Given the description of an element on the screen output the (x, y) to click on. 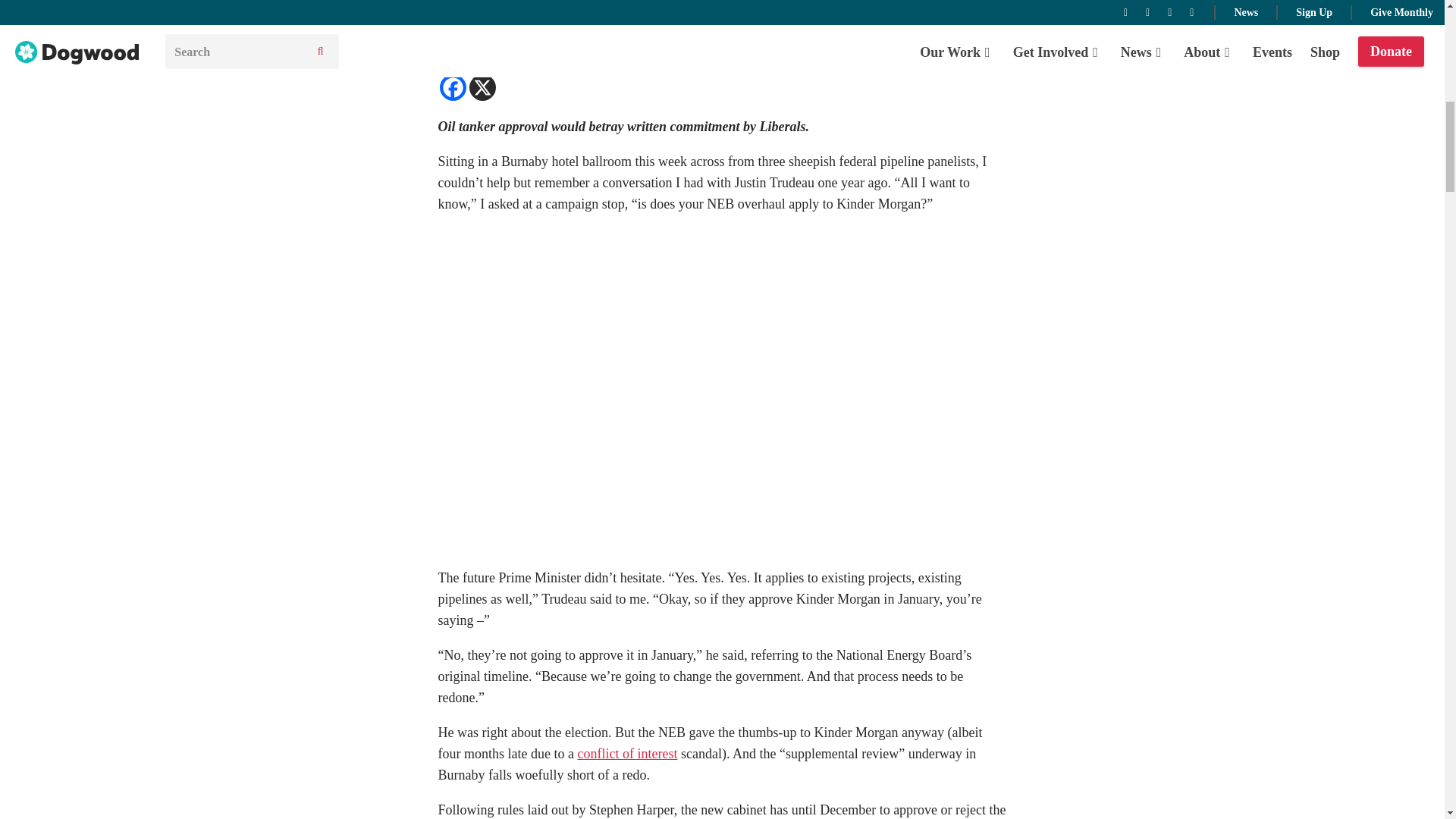
LET BC VOTE (566, 40)
KAI NAGATA (577, 21)
COMMENTARY (480, 40)
X (481, 87)
Facebook (452, 87)
Posts by Kai Nagata (577, 21)
NO TANKERS (648, 40)
